Given the description of an element on the screen output the (x, y) to click on. 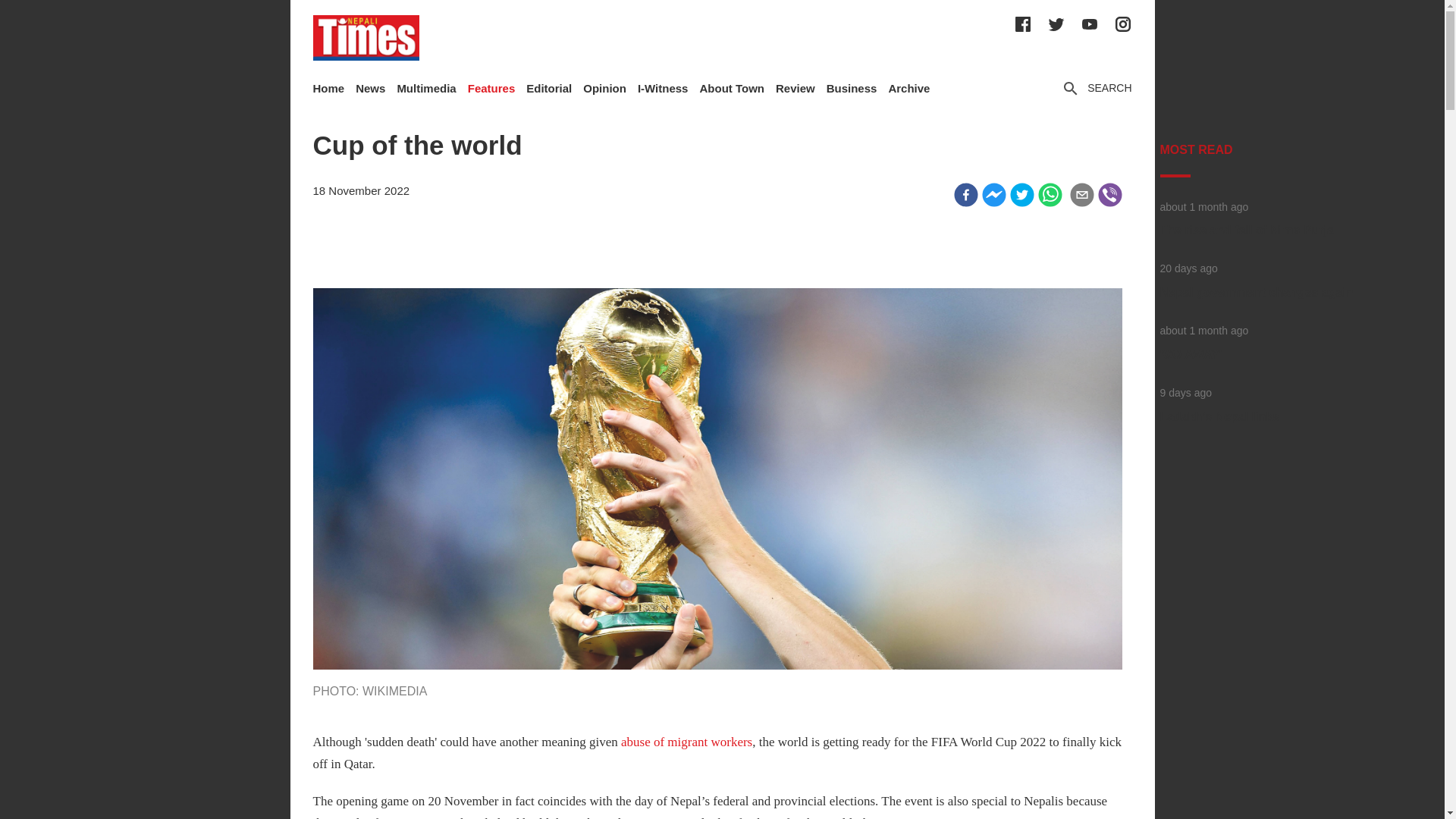
Home (328, 88)
Opinion (604, 88)
About Town (731, 88)
Multimedia (425, 88)
News (370, 88)
Editorial (548, 88)
SEARCH (1096, 88)
Features (491, 88)
Archive (909, 88)
I-Witness (662, 88)
abuse of migrant workers (686, 741)
Business (852, 88)
Review (795, 88)
